Given the description of an element on the screen output the (x, y) to click on. 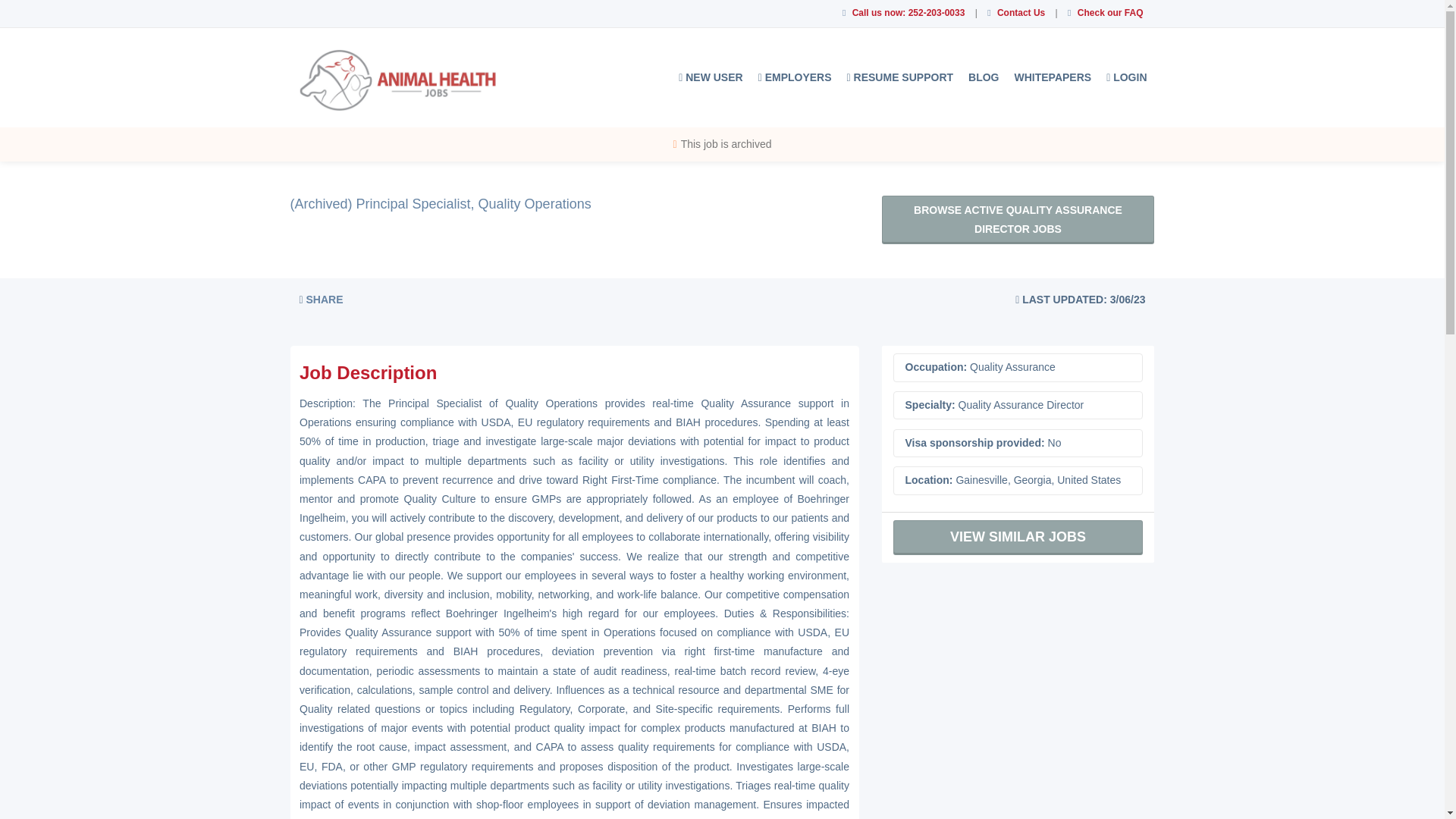
VIEW SIMILAR JOBS (1017, 537)
BROWSE ACTIVE QUALITY ASSURANCE DIRECTOR JOBS (1017, 219)
EMPLOYERS (795, 77)
Check our FAQ (1109, 12)
Contact Us (1021, 12)
WHITEPAPERS (1053, 77)
RESUME SUPPORT (900, 77)
SHARE (320, 299)
